Given the description of an element on the screen output the (x, y) to click on. 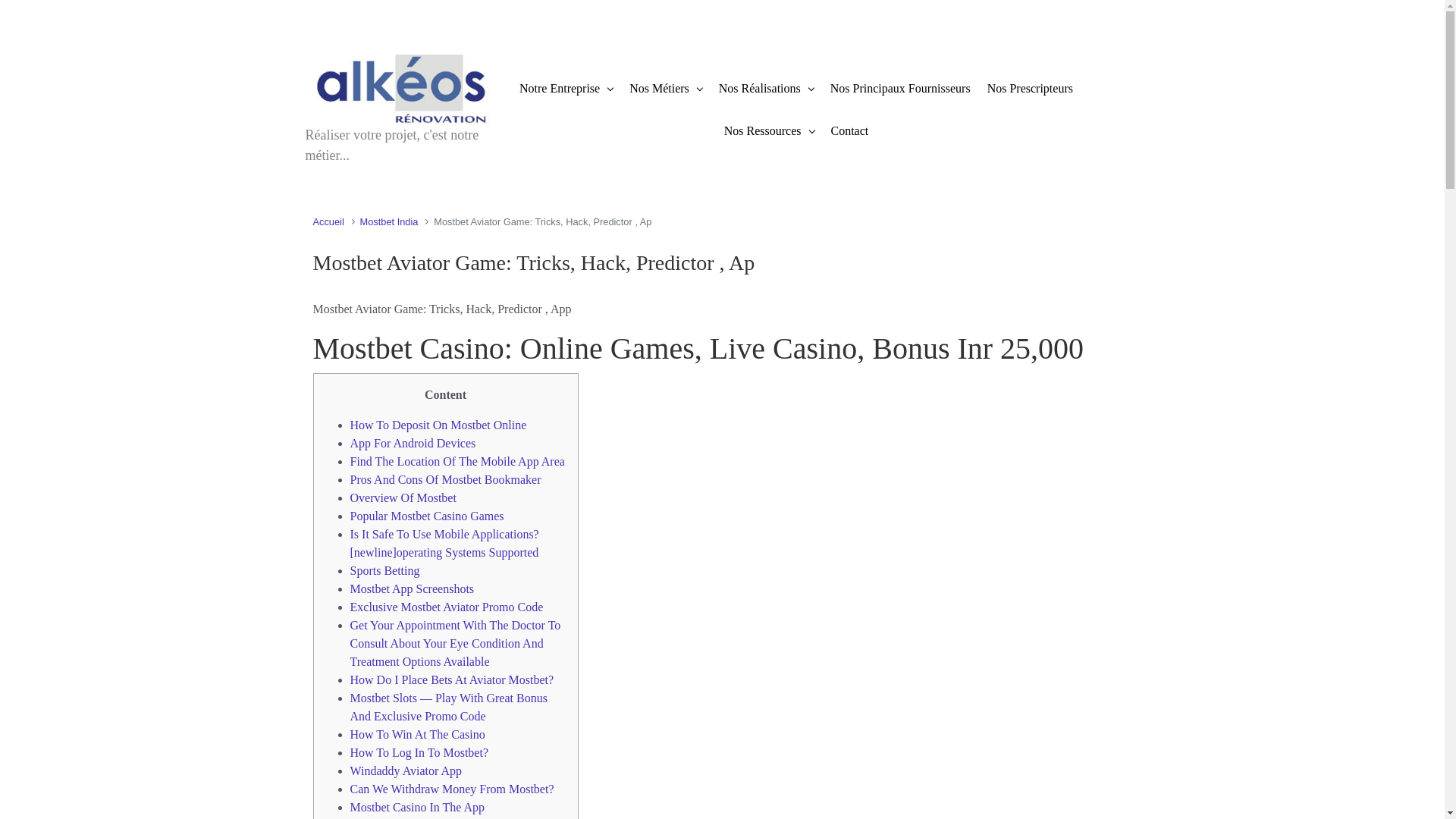
Mostbet India (389, 221)
